Given the description of an element on the screen output the (x, y) to click on. 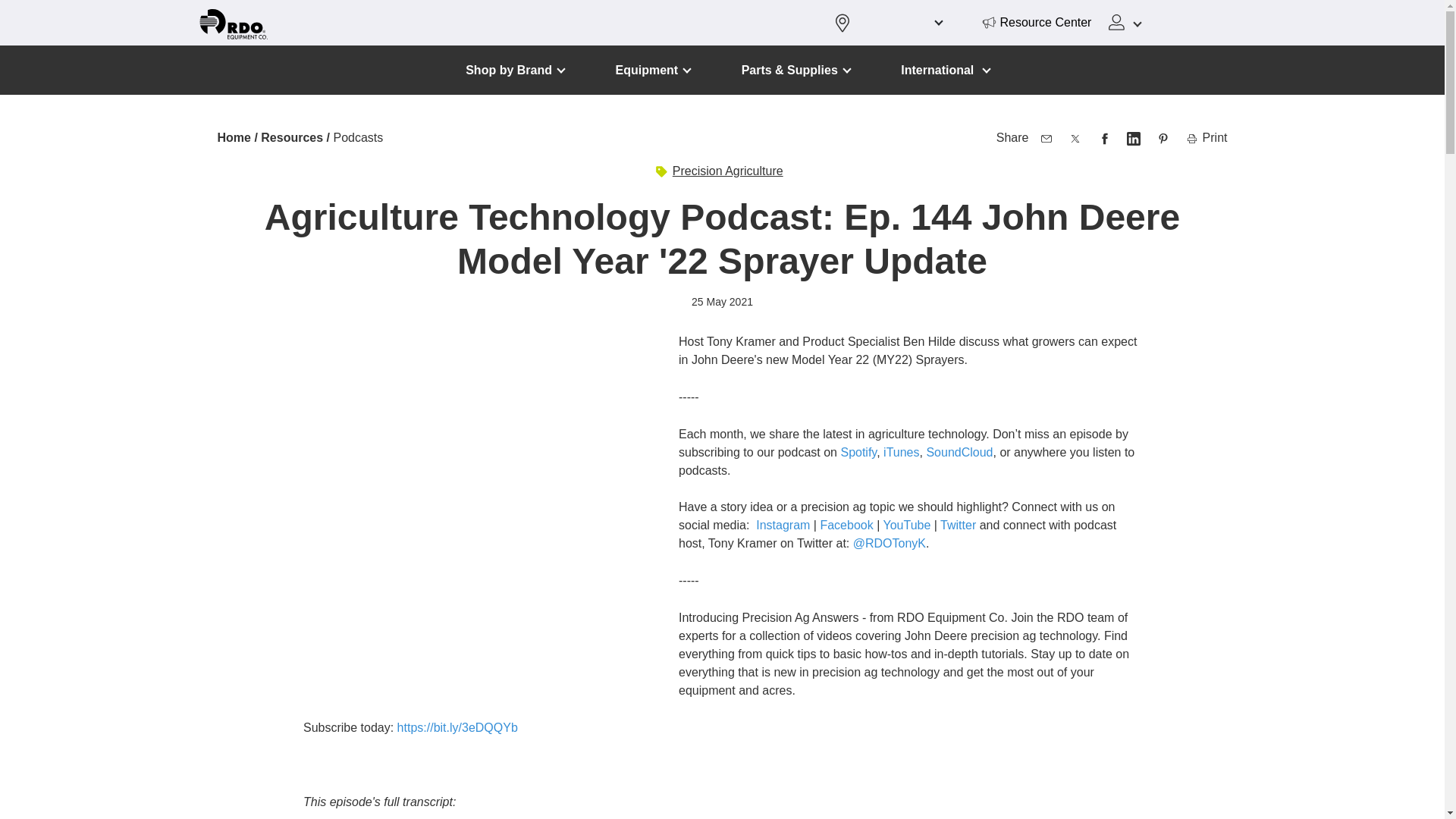
Share by email (1045, 138)
Shop by Brand (514, 70)
RDO Equipment Co. (232, 23)
Resource Center (1036, 22)
